Given the description of an element on the screen output the (x, y) to click on. 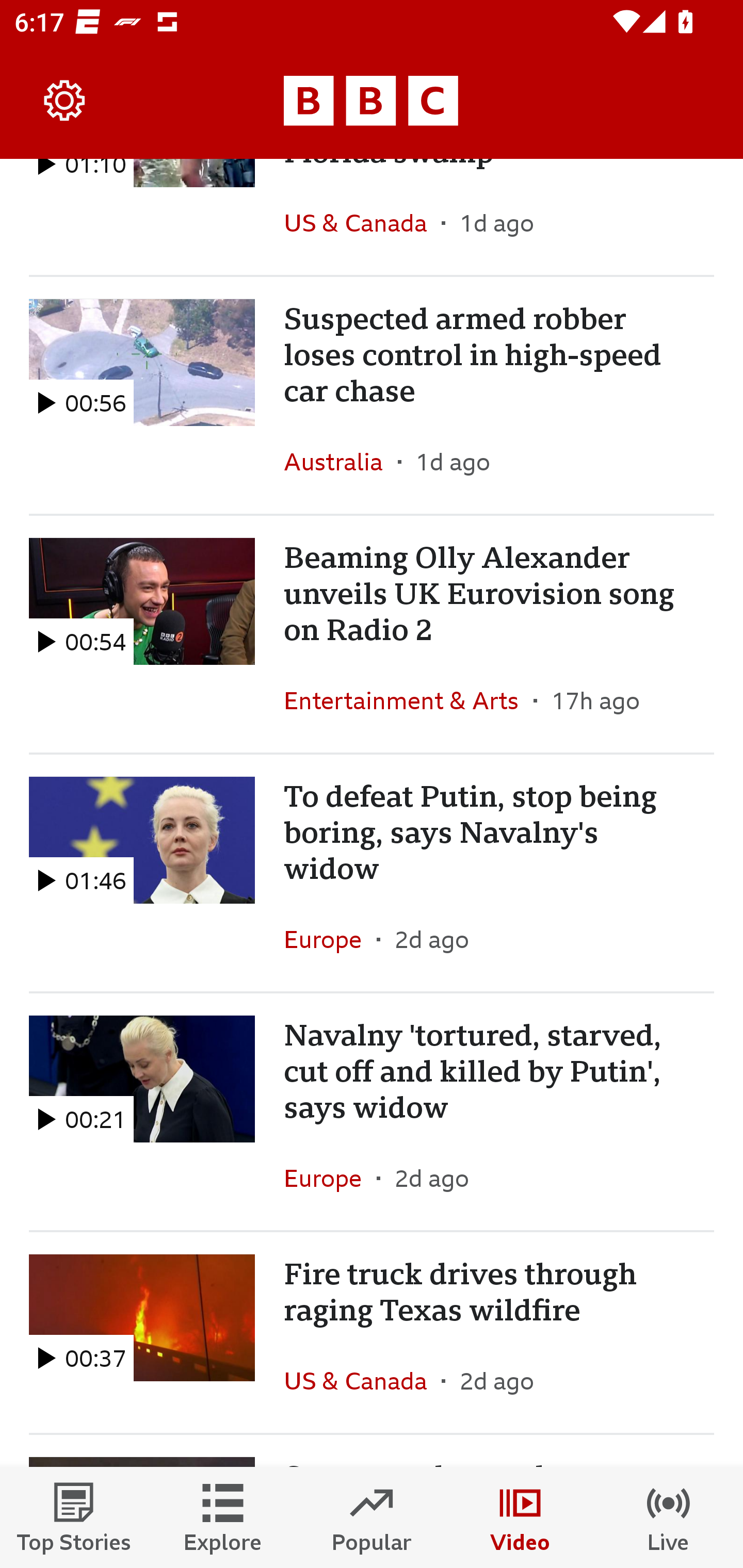
Settings (64, 100)
US & Canada In the section US & Canada (362, 222)
Australia In the section Australia (340, 461)
Europe In the section Europe (329, 938)
Europe In the section Europe (329, 1177)
US & Canada In the section US & Canada (362, 1380)
Top Stories (74, 1517)
Explore (222, 1517)
Popular (371, 1517)
Live (668, 1517)
